Given the description of an element on the screen output the (x, y) to click on. 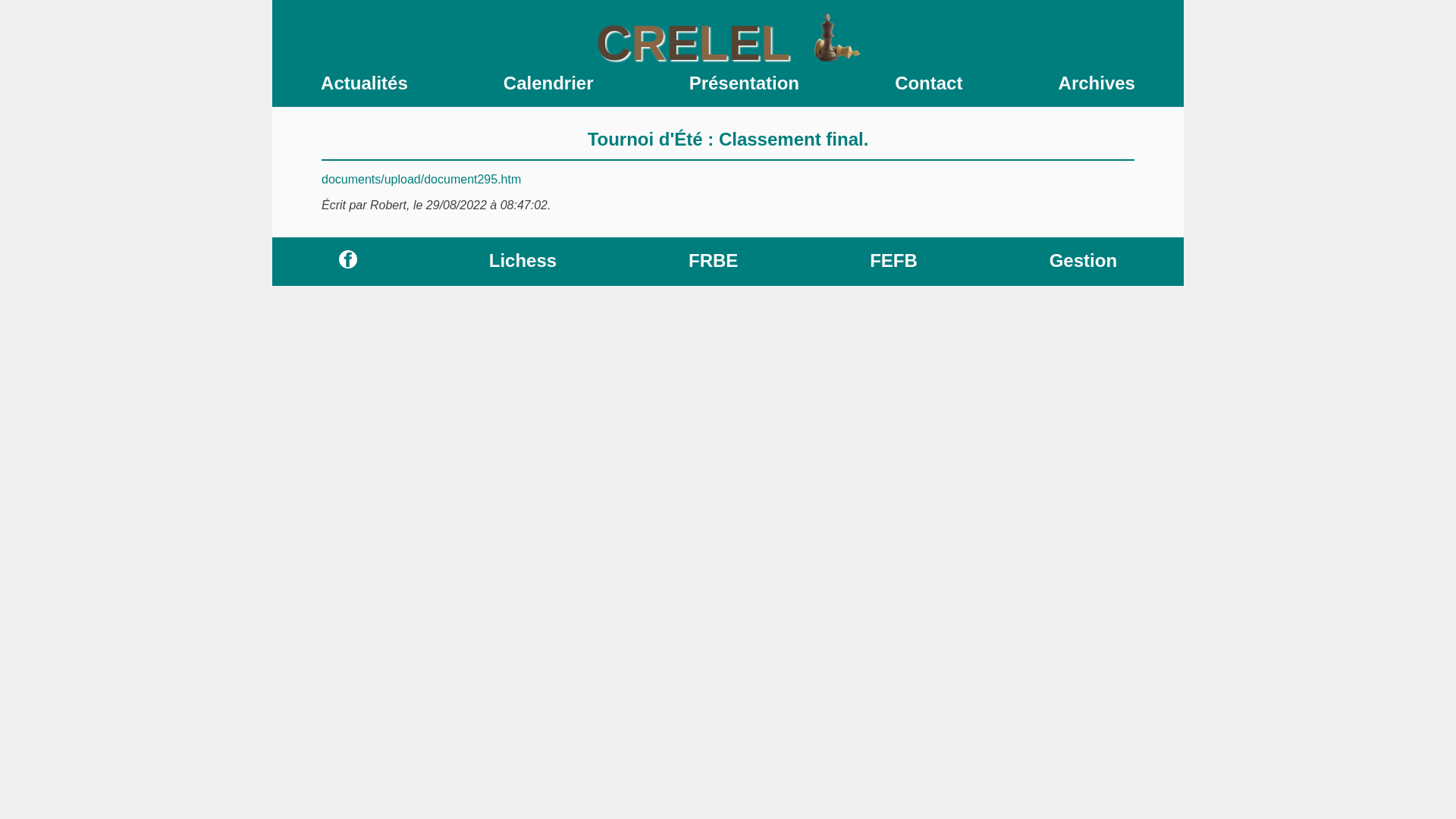
Archives Element type: text (1096, 82)
Gestion Element type: text (1083, 260)
Lichess Element type: text (522, 260)
FRBE Element type: text (712, 260)
Calendrier Element type: text (548, 82)
documents/upload/document295.htm Element type: text (420, 178)
Contact Element type: text (928, 82)
FEFB Element type: text (893, 260)
